Given the description of an element on the screen output the (x, y) to click on. 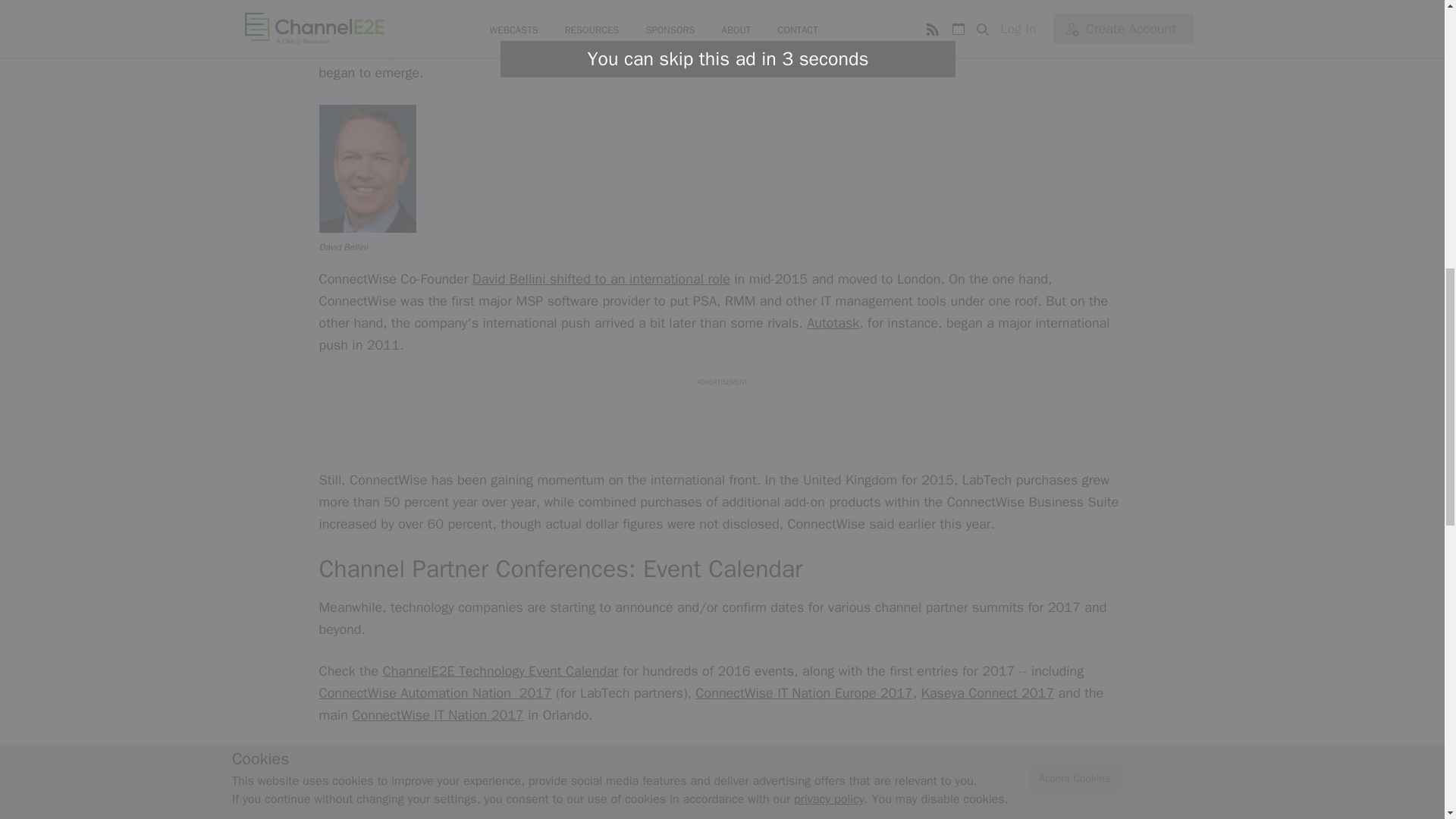
Autotask (832, 322)
ChannelE2E Technology Event Calendar (500, 670)
ConnectWise Automation Nation  2017 (434, 692)
3rd party ad content (721, 788)
David Bellini shifted to an international role (600, 279)
ConnectWise IT Nation 2017 (438, 714)
3rd party ad content (721, 421)
ConnectWise IT Nation Europe 2017 (803, 692)
Kaseya Connect 2017 (987, 692)
